Given the description of an element on the screen output the (x, y) to click on. 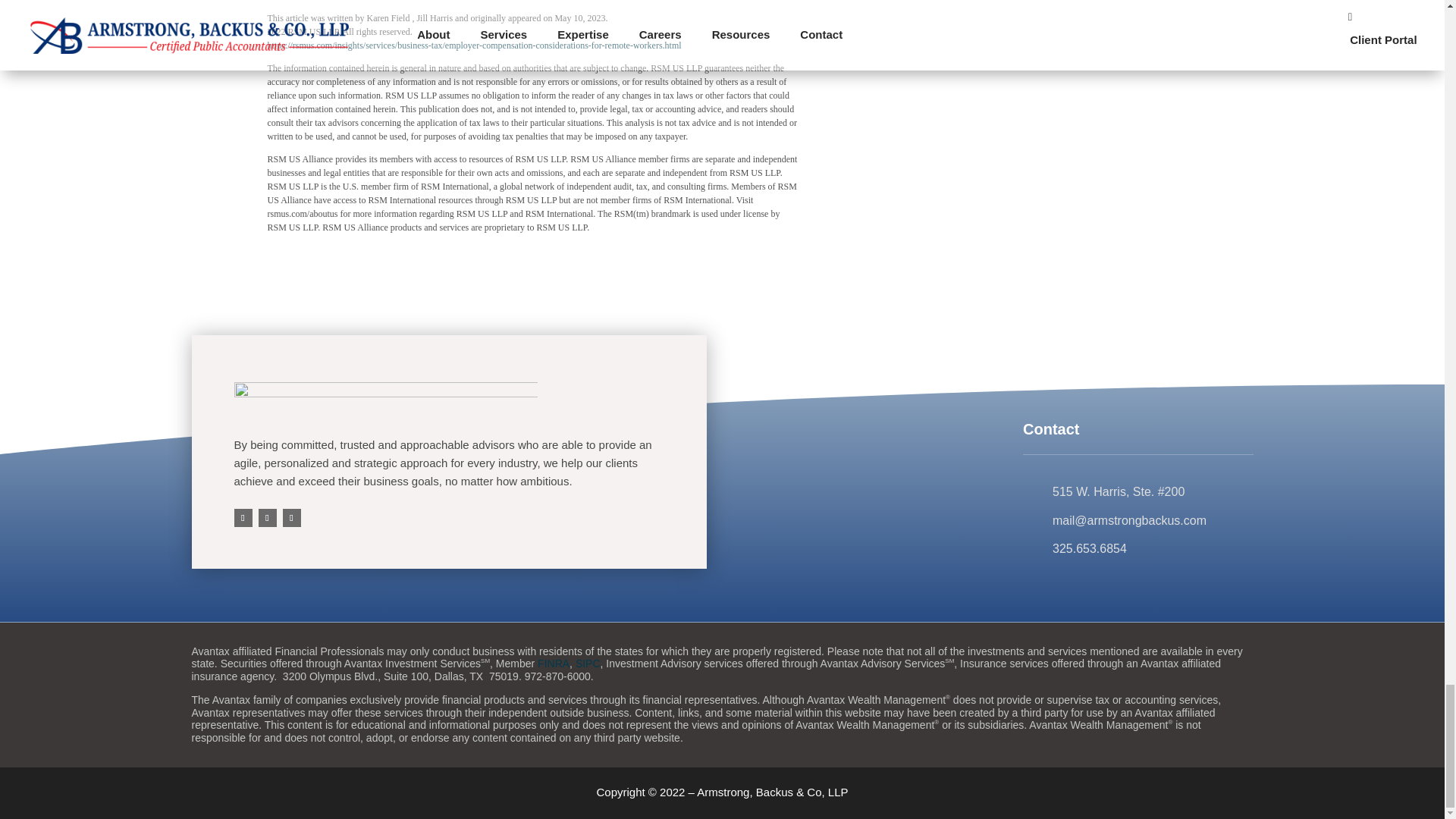
Follow on Instagram (290, 517)
Follow on LinkedIn (266, 517)
Follow on Facebook (241, 517)
